Given the description of an element on the screen output the (x, y) to click on. 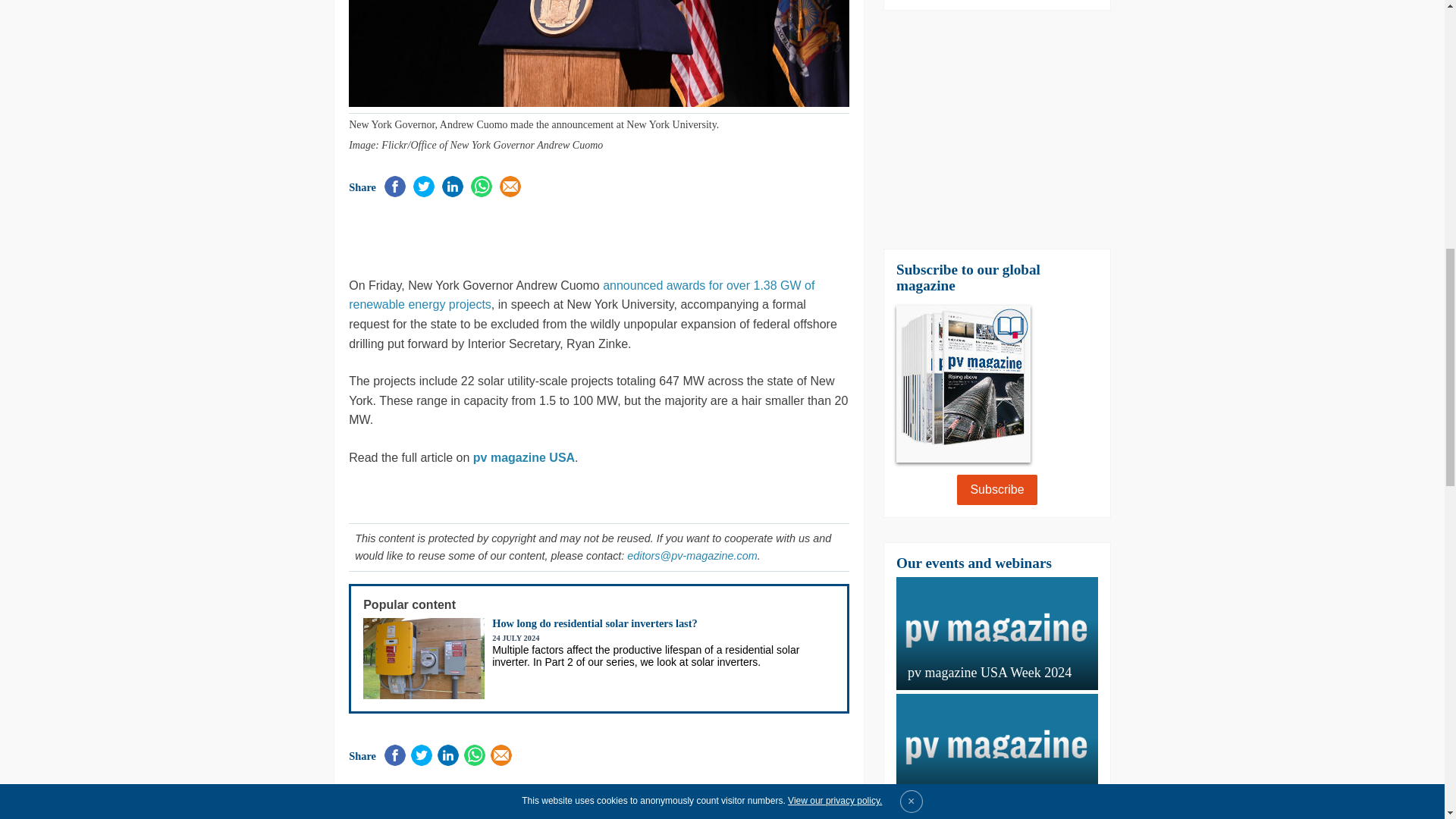
3rd party ad content (727, 787)
3rd party ad content (526, 234)
3rd party ad content (996, 129)
